Given the description of an element on the screen output the (x, y) to click on. 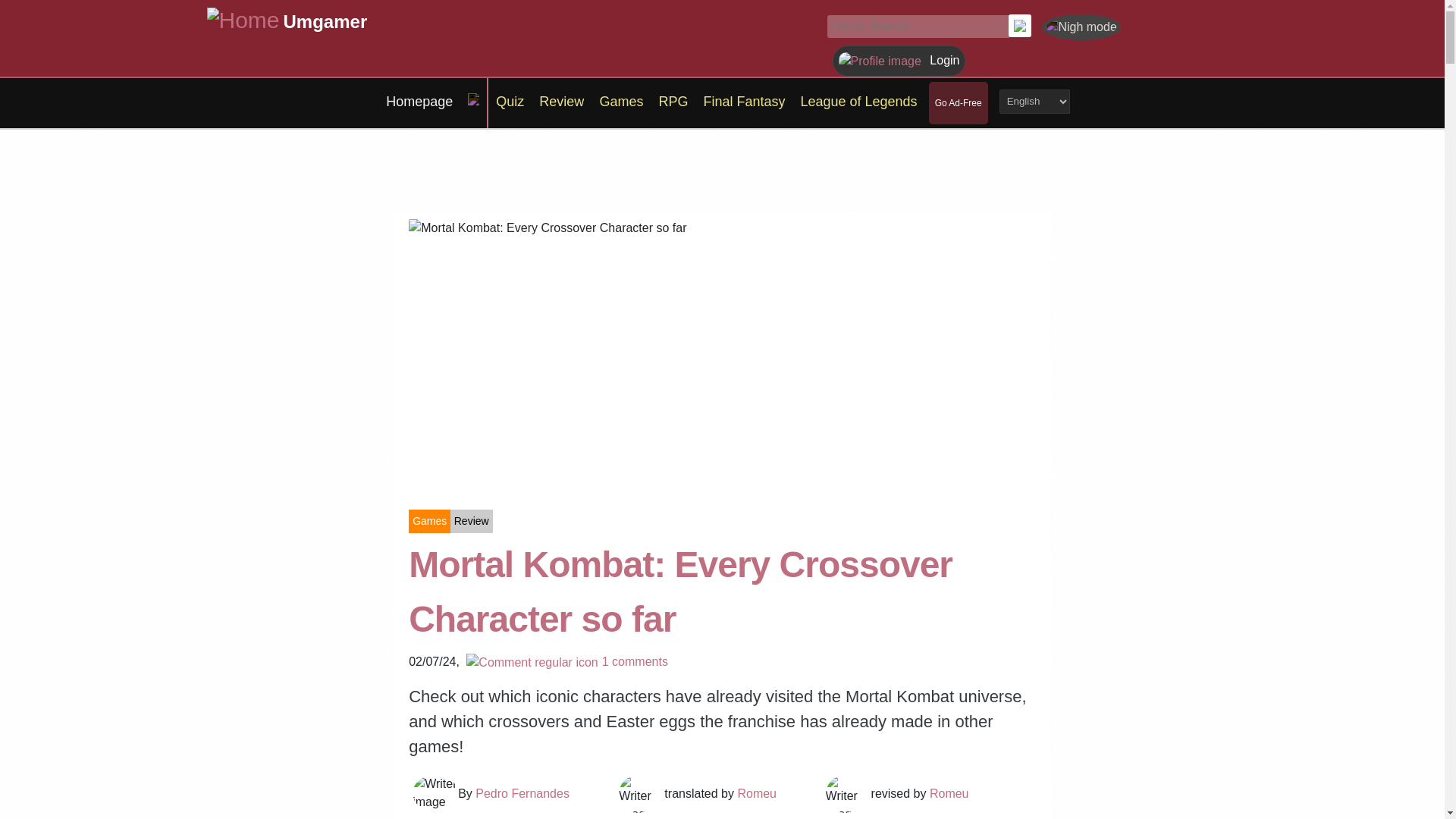
Umgamer (325, 20)
Mortal Kombat: Every Crossover Character so far (722, 592)
Games (429, 521)
Login (898, 60)
Romeu (949, 793)
League of Legends (858, 101)
Final Fantasy (743, 101)
Games (620, 101)
Pedro Fernandes (522, 793)
Review (561, 101)
RPG (672, 101)
Quiz (509, 101)
Homepage (419, 102)
Go Ad-Free (957, 102)
1 comments (565, 661)
